Given the description of an element on the screen output the (x, y) to click on. 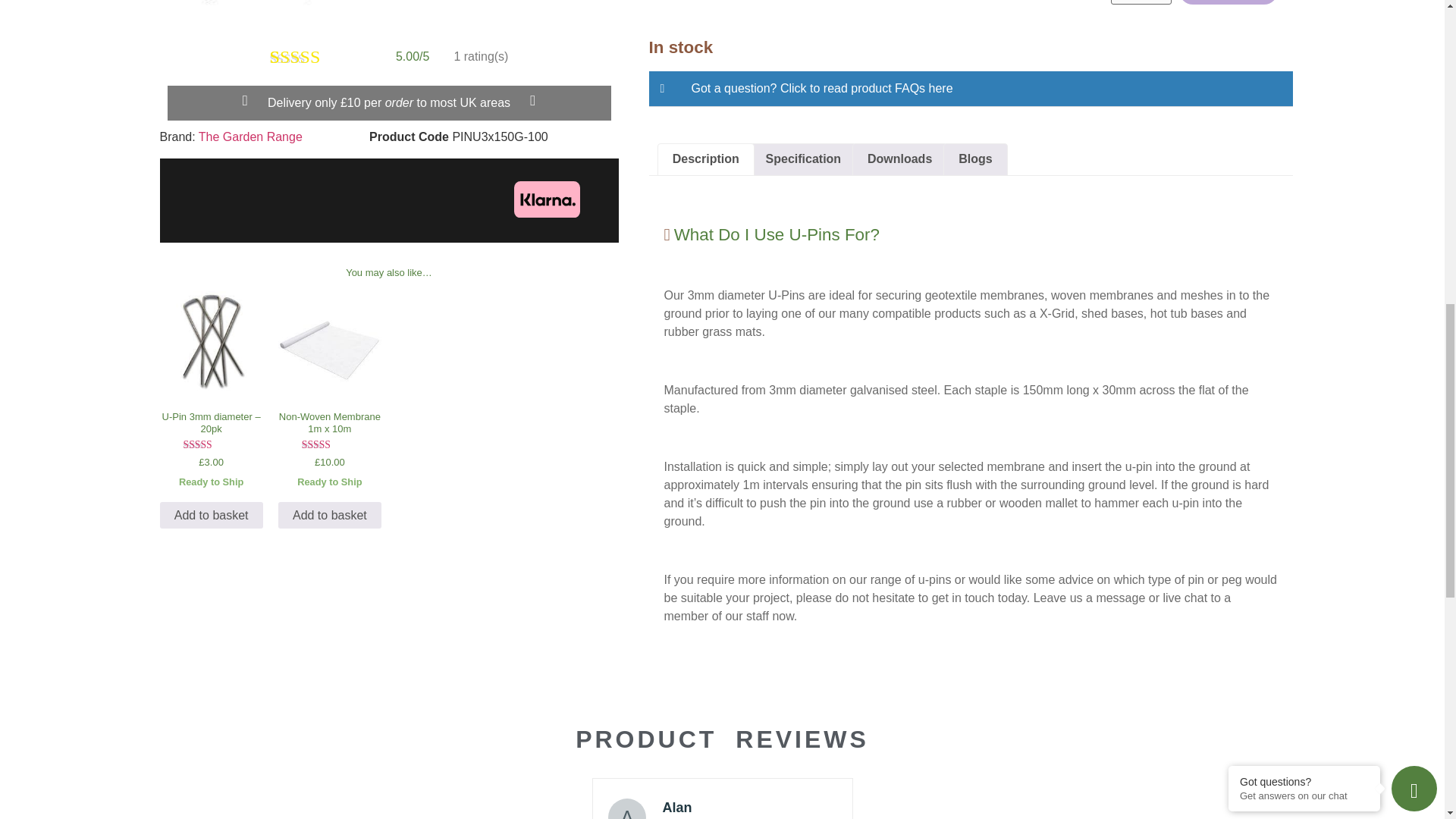
1 (1141, 2)
